Given the description of an element on the screen output the (x, y) to click on. 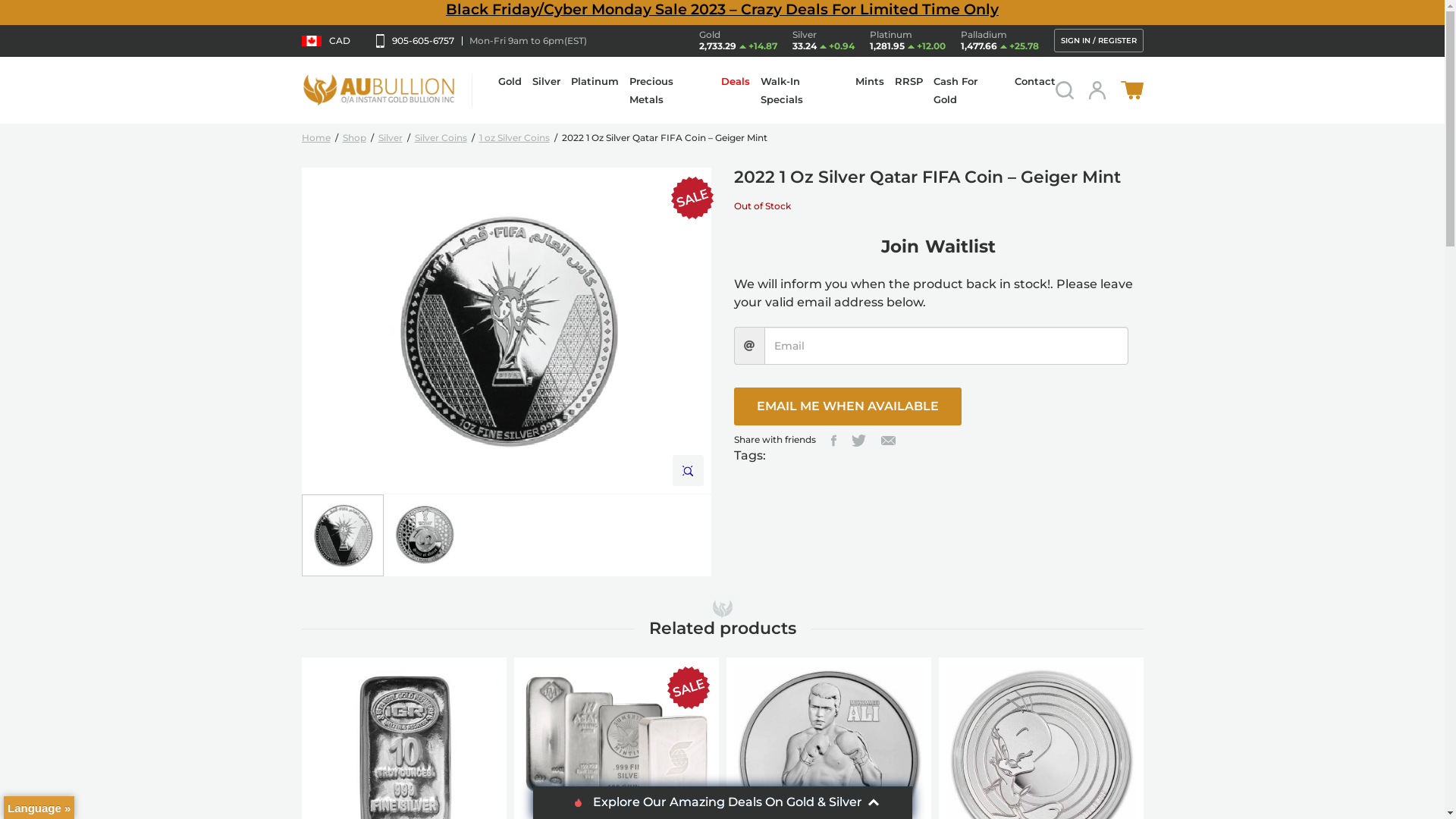
Silver Coins Element type: text (440, 137)
Shop Element type: text (354, 137)
SIGN IN / REGISTER Element type: text (1098, 40)
1 oz Silver Coins Element type: text (514, 137)
905-605-6757 Element type: text (423, 40)
Silver Element type: text (389, 137)
EMAIL ME WHEN AVAILABLE Element type: text (847, 406)
Home Element type: text (315, 137)
Gold Element type: text (509, 81)
tuvalu-bat-simpsons-front Element type: hover (506, 330)
Precious Metals Element type: text (651, 90)
Silver Element type: text (546, 81)
CAD Element type: text (326, 39)
Walk-In Specials Element type: text (781, 90)
AU Bullion Canada Element type: hover (379, 88)
Platinum Element type: text (594, 81)
Mints Element type: text (869, 81)
Deals Element type: text (735, 81)
Contact Element type: text (1034, 81)
Cash For Gold Element type: text (955, 90)
RRSP Element type: text (908, 81)
